Given the description of an element on the screen output the (x, y) to click on. 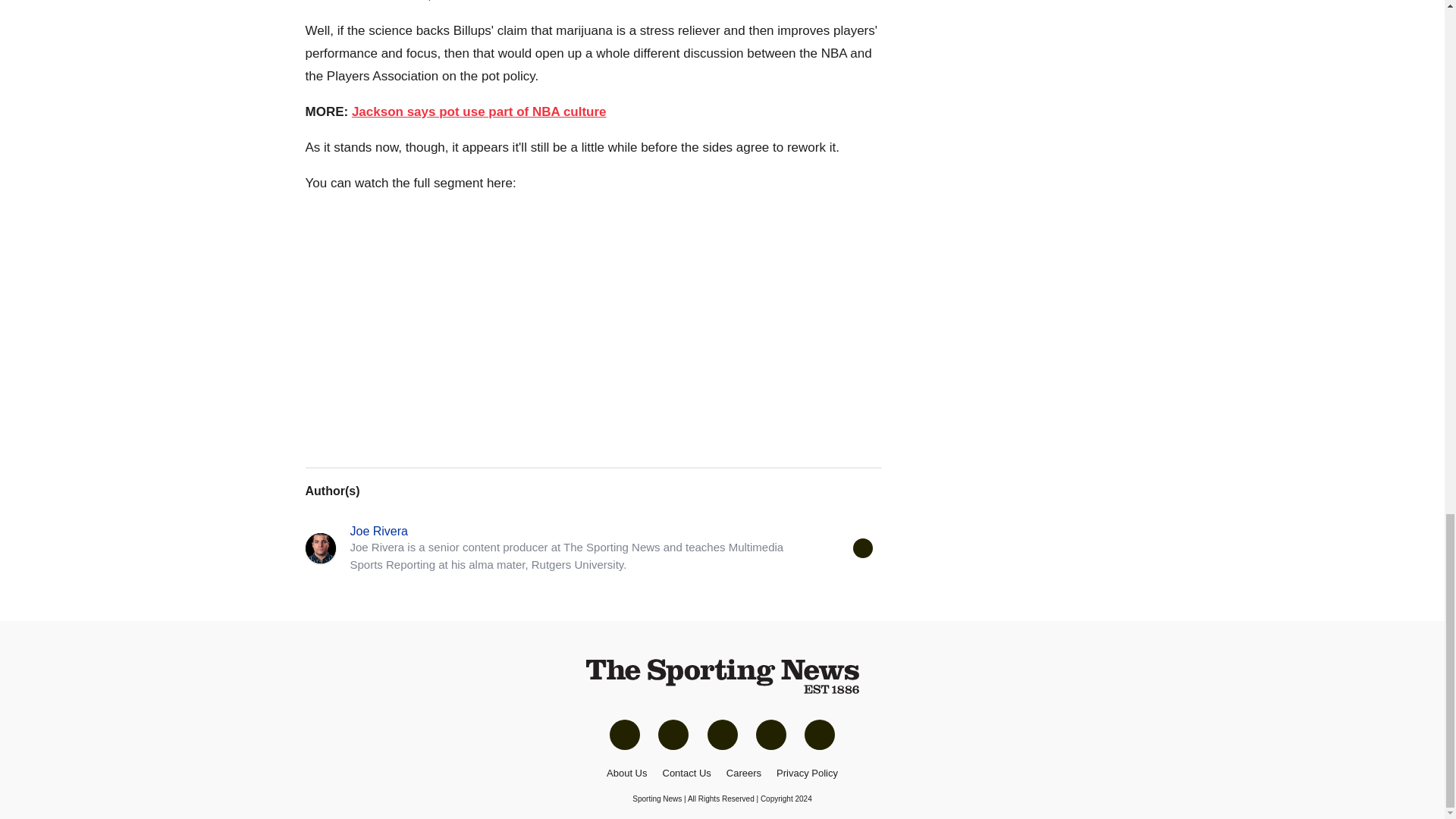
Open the author page on Twitter (861, 547)
